Given the description of an element on the screen output the (x, y) to click on. 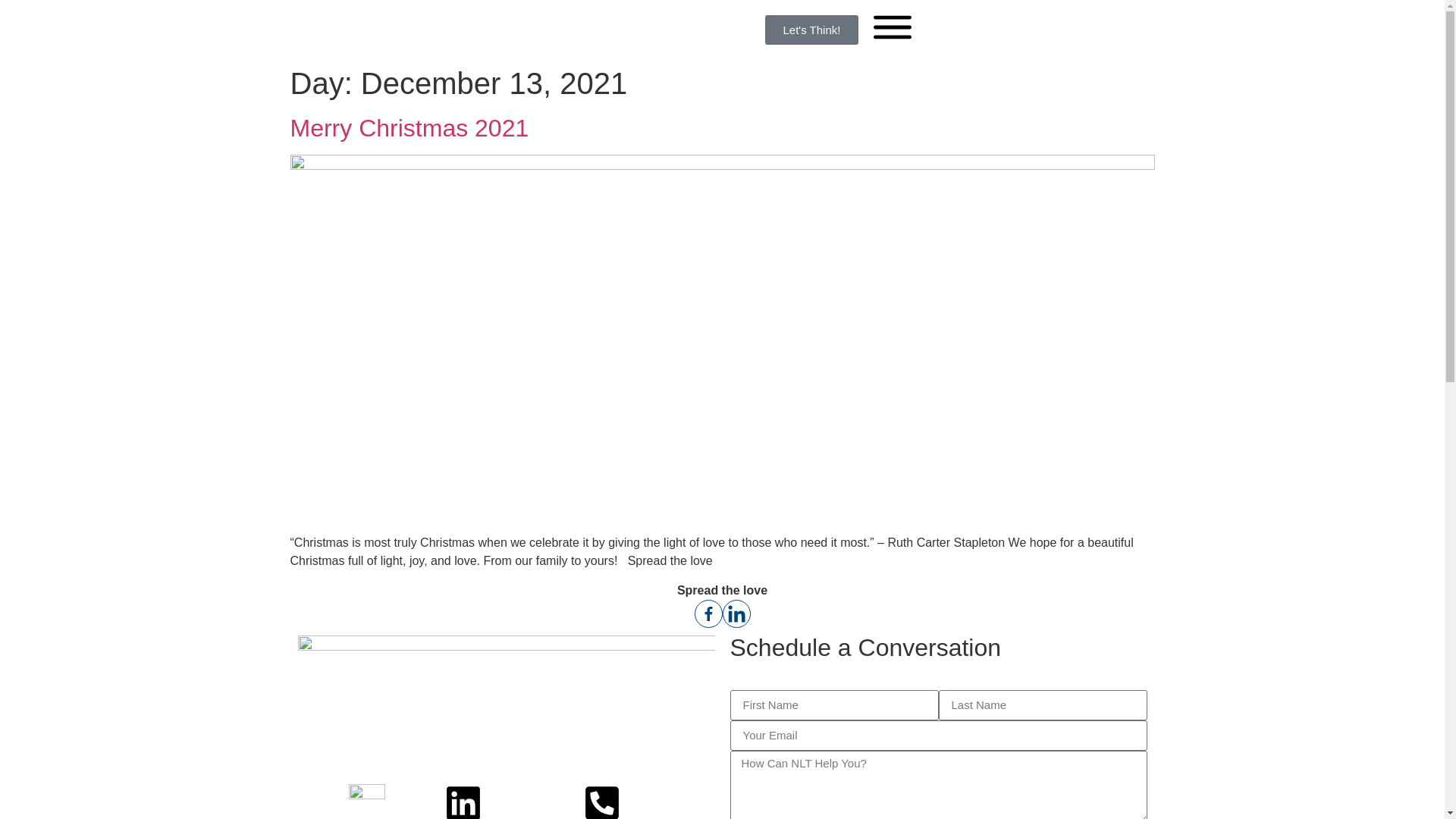
Facebook Element type: hover (708, 613)
Let's Think! Element type: text (811, 29)
Linkedin Element type: hover (735, 613)
Merry Christmas 2021 Element type: text (408, 127)
